Given the description of an element on the screen output the (x, y) to click on. 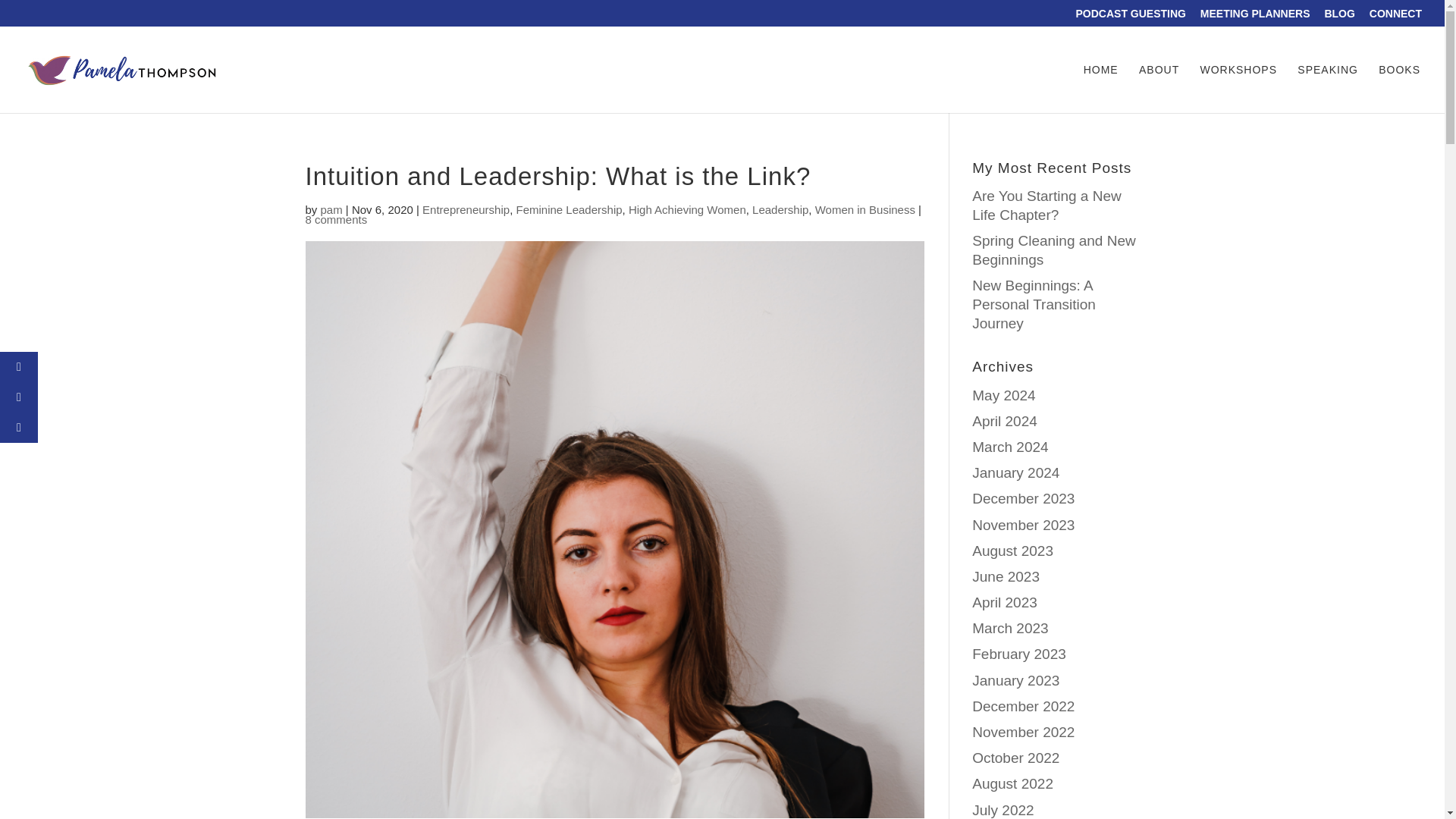
BLOG (1338, 16)
Entrepreneurship (465, 209)
MEETING PLANNERS (1254, 16)
CONNECT (1396, 16)
WORKSHOPS (1237, 88)
Posts by pam (331, 209)
Women in Business (865, 209)
pam (331, 209)
Are You Starting a New Life Chapter? (1046, 205)
Spring Cleaning and New Beginnings (1053, 249)
SPEAKING (1327, 88)
High Achieving Women (686, 209)
Leadership (780, 209)
PODCAST GUESTING (1130, 16)
Feminine Leadership (568, 209)
